Given the description of an element on the screen output the (x, y) to click on. 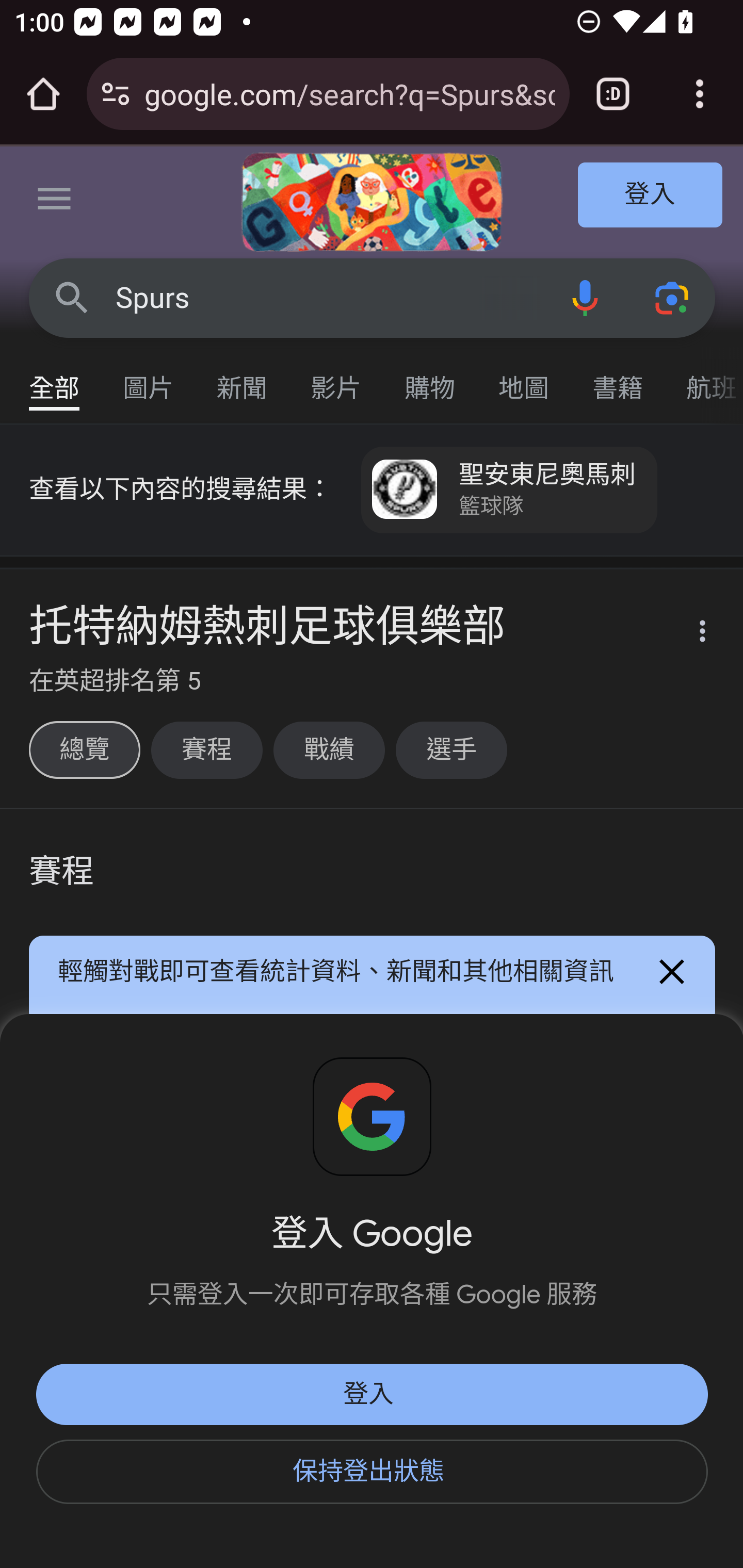
Open the home page (43, 93)
Connection is secure (115, 93)
Switch or close tabs (612, 93)
Customize and control Google Chrome (699, 93)
主選單 (54, 202)
登入 (650, 195)
Google 搜尋 (71, 296)
使用相機或相片搜尋 (672, 296)
Spurs (328, 297)
圖片 (148, 378)
新聞 (242, 378)
影片 (336, 378)
購物 (430, 378)
地圖 (524, 378)
書籍 (618, 378)
航班 (703, 378)
聖安東尼奧馬刺 籃球隊 聖安東尼奧馬刺 籃球隊 (510, 489)
更多選項 (690, 634)
總覽 (83, 749)
賽程 (206, 749)
戰績 (329, 749)
選手 (451, 749)
關閉 (672, 971)
